Given the description of an element on the screen output the (x, y) to click on. 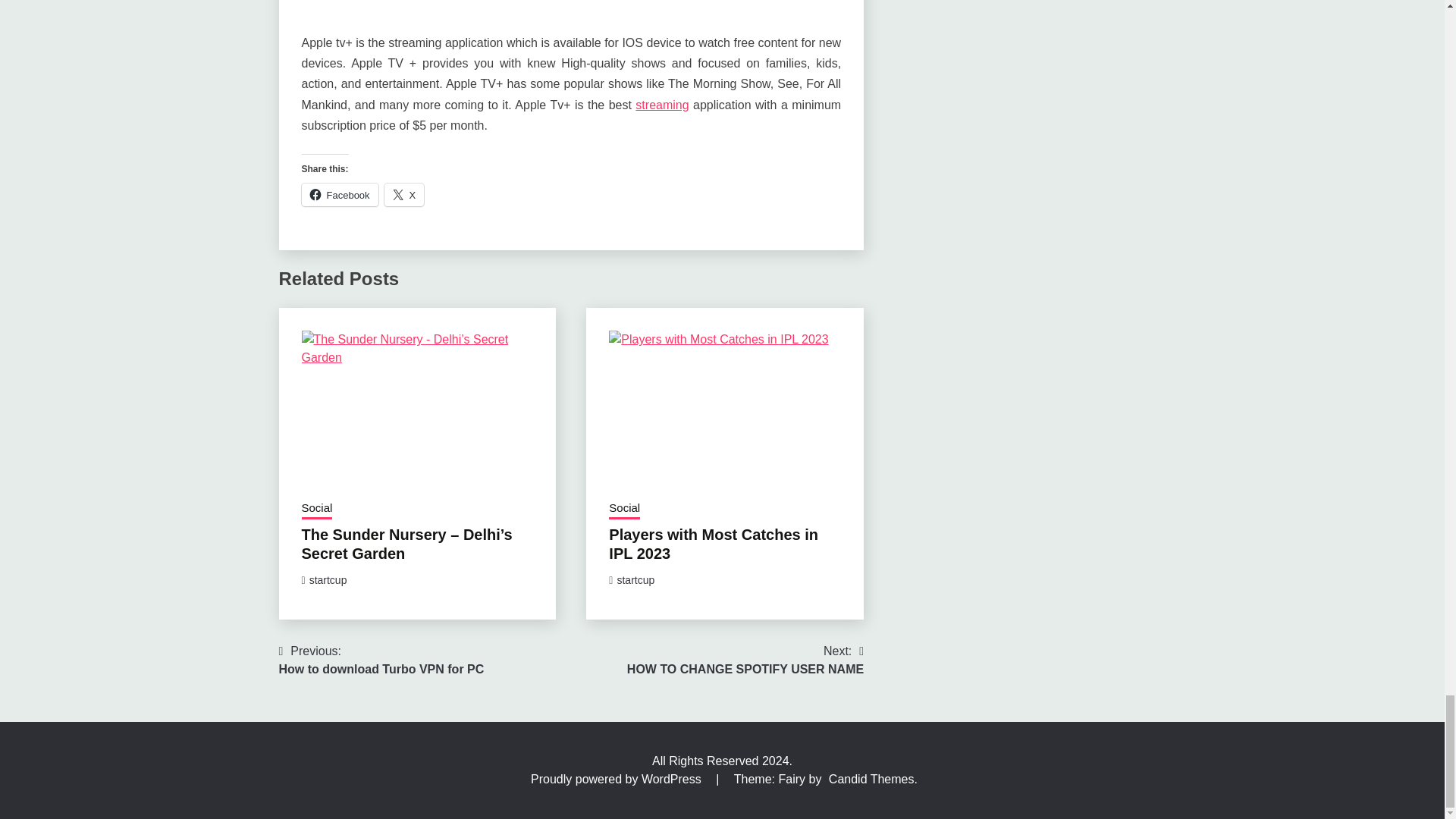
streaming (661, 104)
Click to share on X (404, 194)
Click to share on Facebook (339, 194)
